Given the description of an element on the screen output the (x, y) to click on. 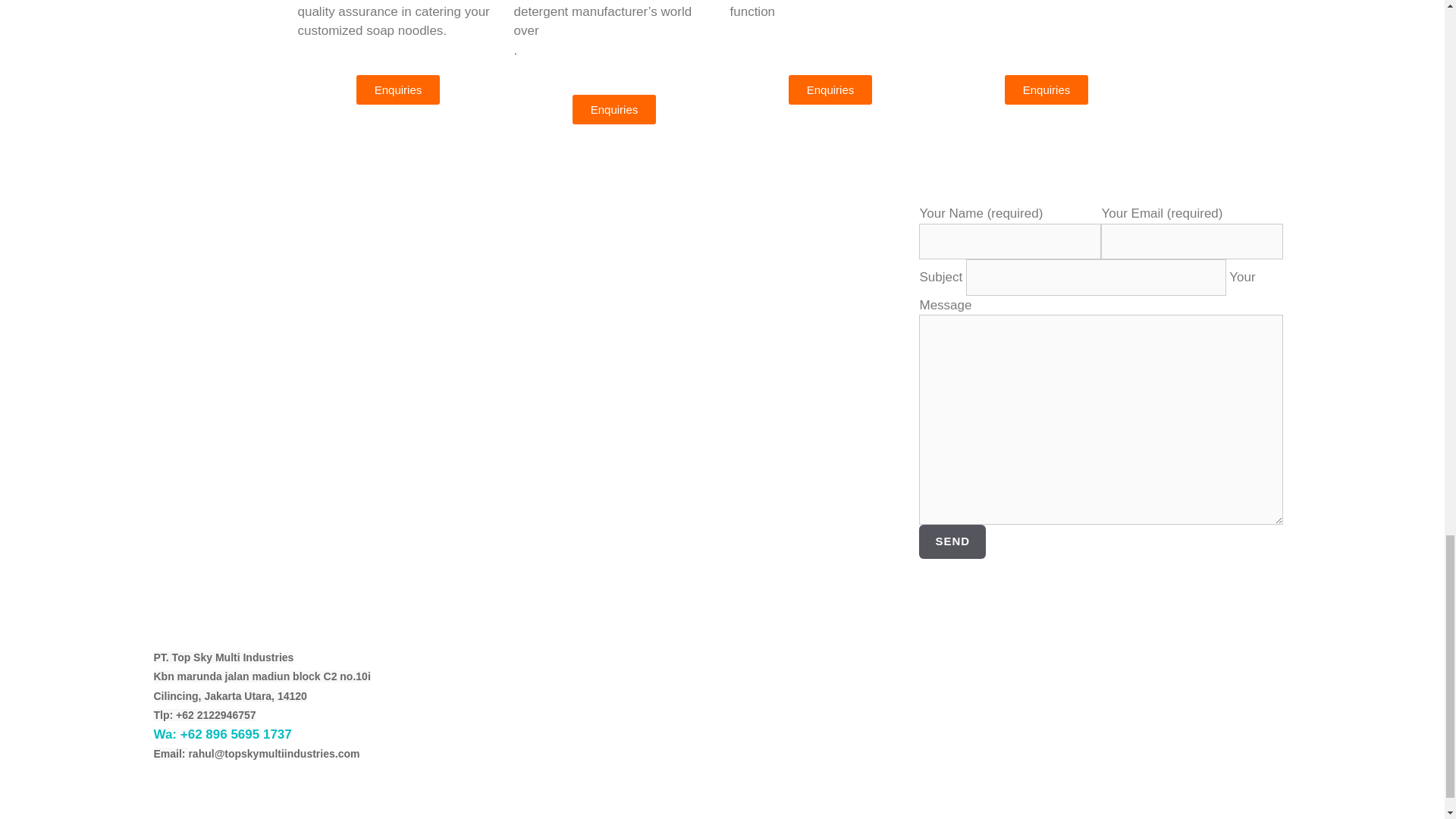
Enquiries (398, 89)
Enquiries (614, 109)
Send (951, 541)
Enquiries (830, 89)
Send (951, 541)
Enquiries (1046, 89)
